Given the description of an element on the screen output the (x, y) to click on. 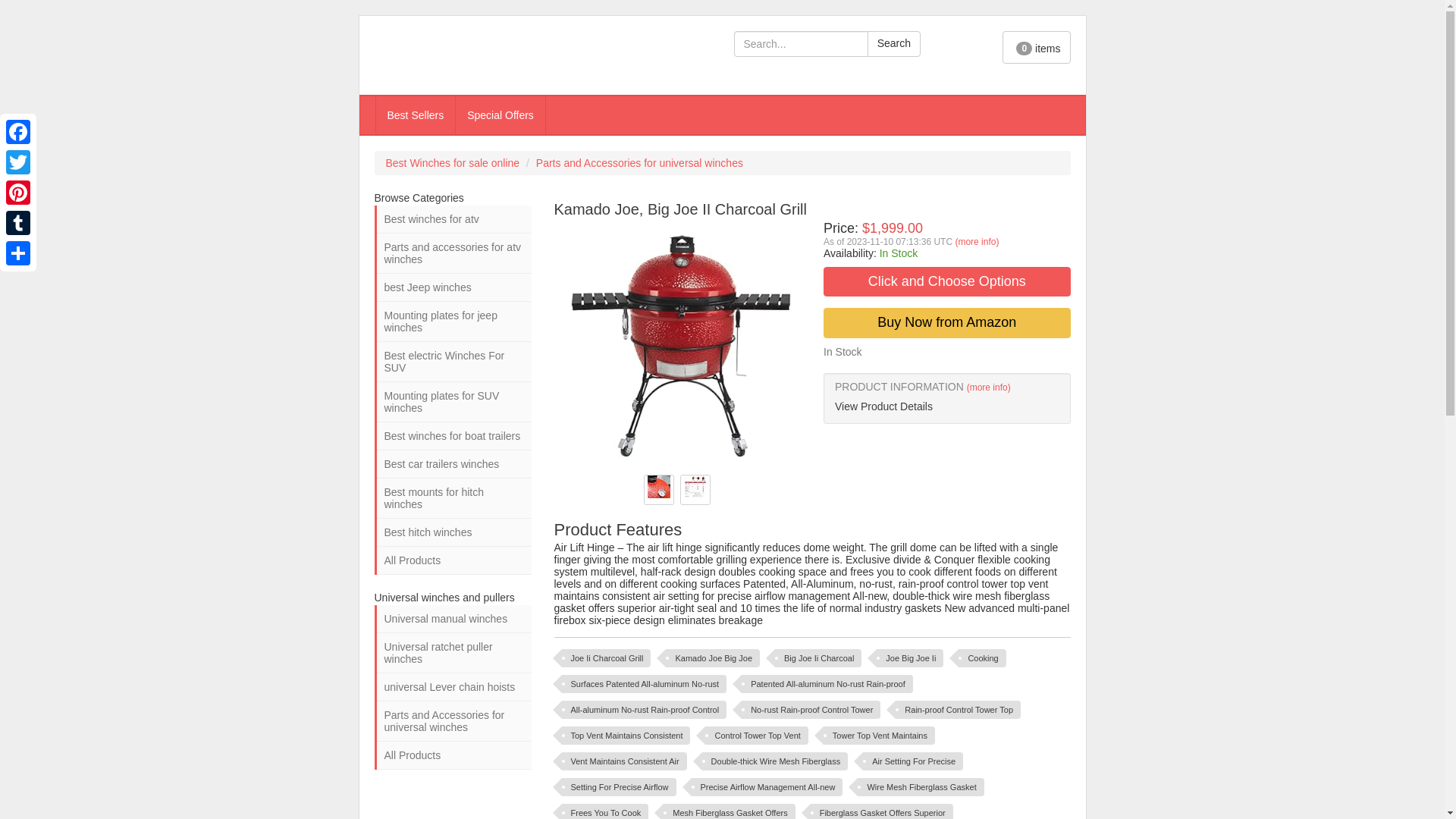
Mesh Fiberglass Gasket Offers (728, 811)
Kamado Joe Big Joe (712, 658)
Setting For Precise Airflow (617, 787)
Buy Now from Amazon (947, 322)
Surfaces Patented All-aluminum No-rust (643, 683)
Double-thick Wire Mesh Fiberglass (774, 761)
In Stock (898, 253)
Tower Top Vent Maintains (879, 735)
Air Setting For Precise (912, 761)
Best Winches for sale online (452, 162)
View Product Details (946, 406)
Parts and Accessories for universal winches (638, 162)
Wire Mesh Fiberglass Gasket (920, 787)
Joe Big Joe Ii (909, 658)
Precise Airflow Management All-new (767, 787)
